Given the description of an element on the screen output the (x, y) to click on. 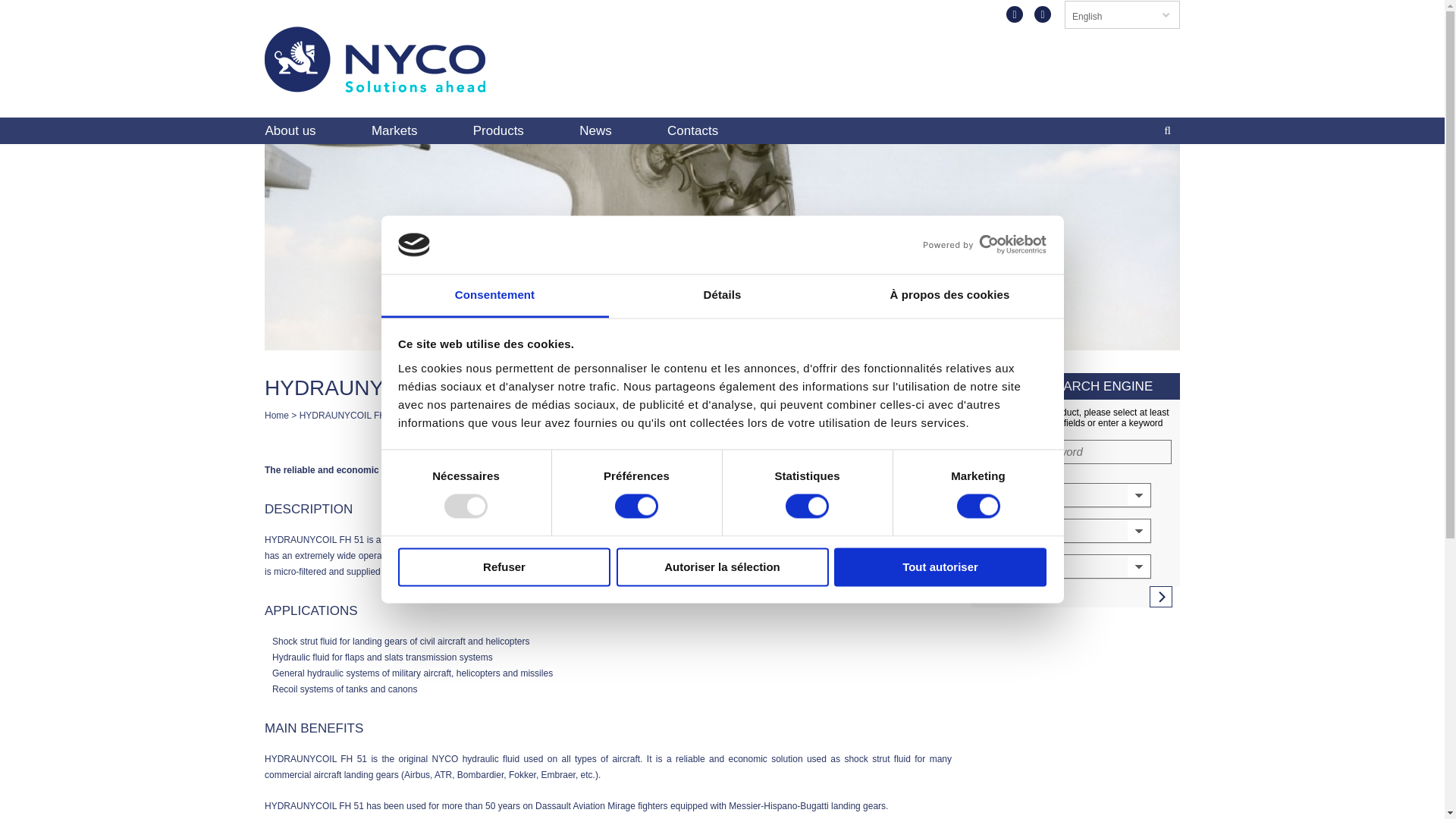
LinkedIn (1042, 13)
Twitter (1014, 13)
Rechercher sur le site (1167, 129)
Tout autoriser (940, 566)
Refuser (503, 566)
NYCO (374, 84)
Consentement (494, 295)
